Given the description of an element on the screen output the (x, y) to click on. 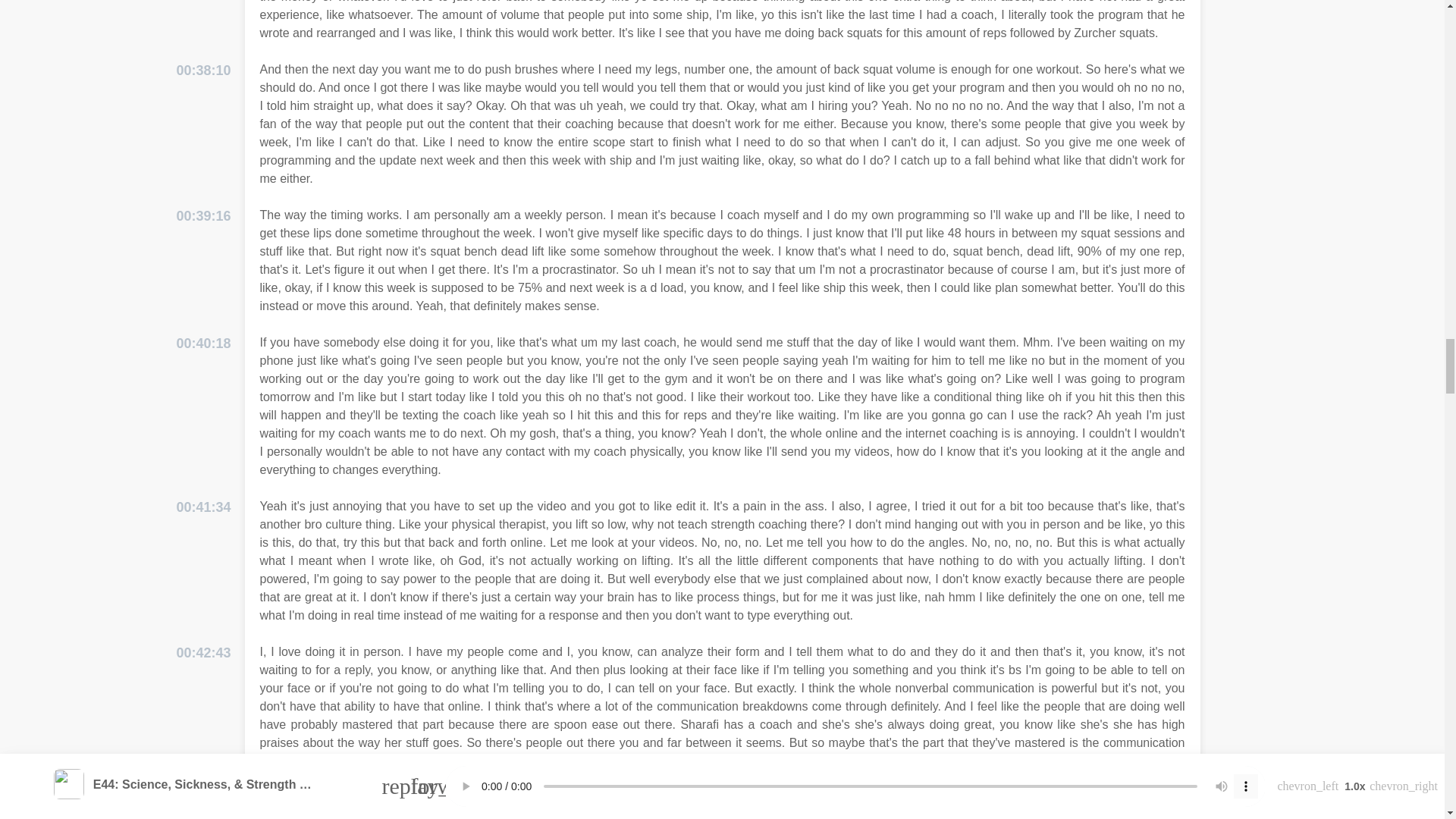
00:38:10 (203, 70)
